Given the description of an element on the screen output the (x, y) to click on. 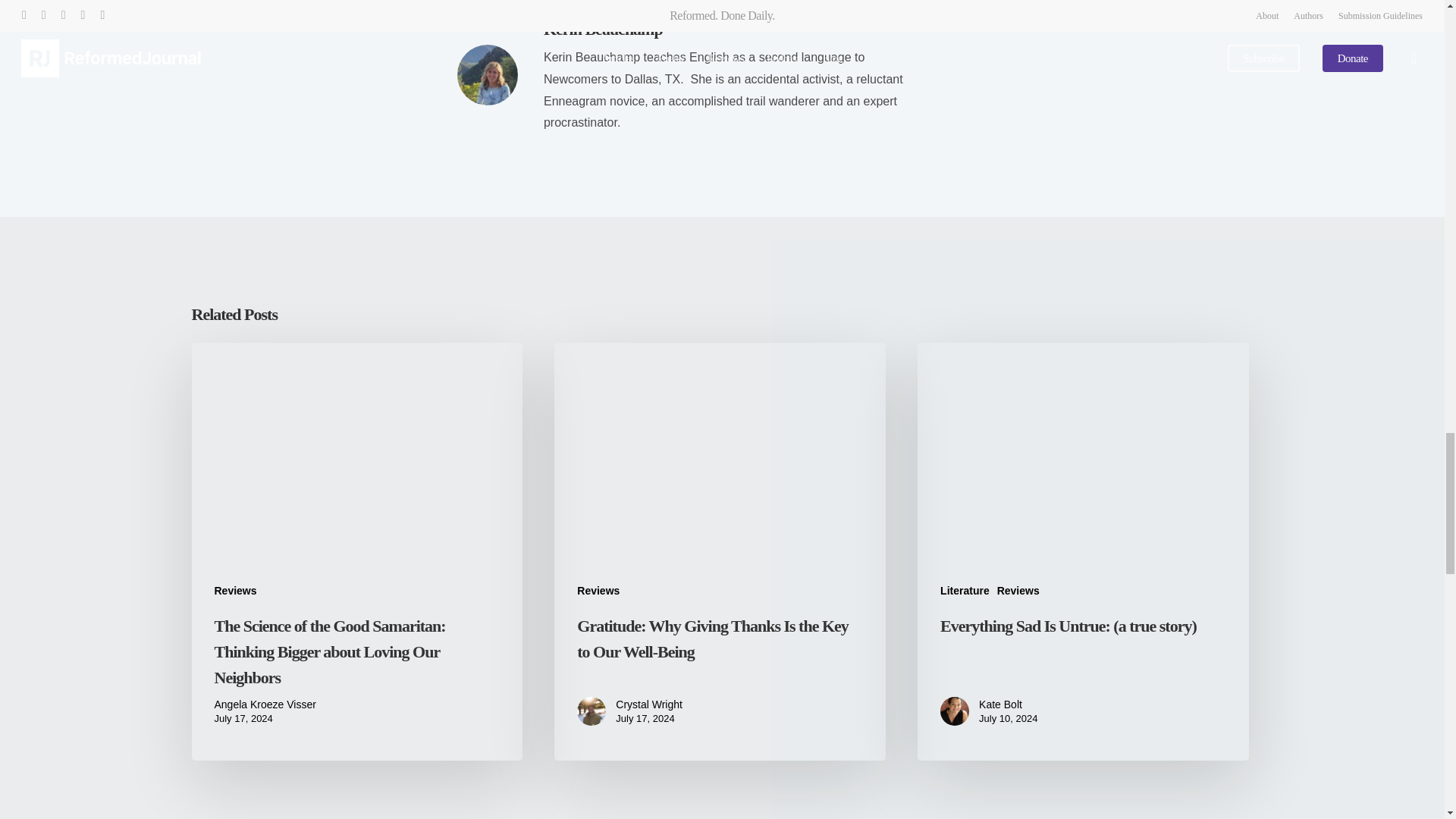
Kerin Beauchamp (602, 28)
Angela Kroeze Visser (264, 703)
Reviews (235, 590)
